Given the description of an element on the screen output the (x, y) to click on. 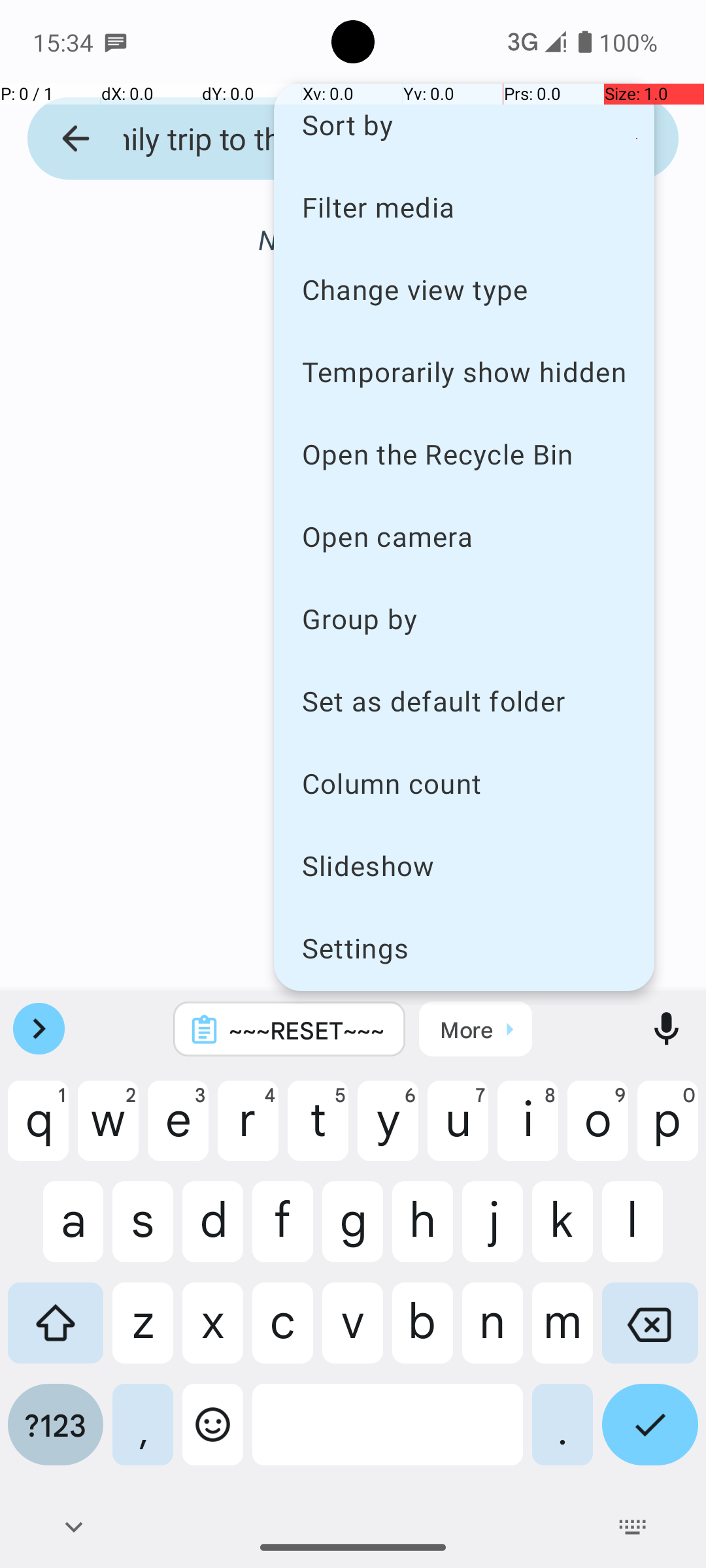
Filter media Element type: android.widget.TextView (463, 206)
Change view type Element type: android.widget.TextView (463, 288)
Temporarily show hidden Element type: android.widget.TextView (463, 371)
Open the Recycle Bin Element type: android.widget.TextView (463, 453)
Open camera Element type: android.widget.TextView (463, 535)
Group by Element type: android.widget.TextView (463, 618)
Set as default folder Element type: android.widget.TextView (463, 700)
Column count Element type: android.widget.TextView (463, 782)
Slideshow Element type: android.widget.TextView (463, 864)
